Given the description of an element on the screen output the (x, y) to click on. 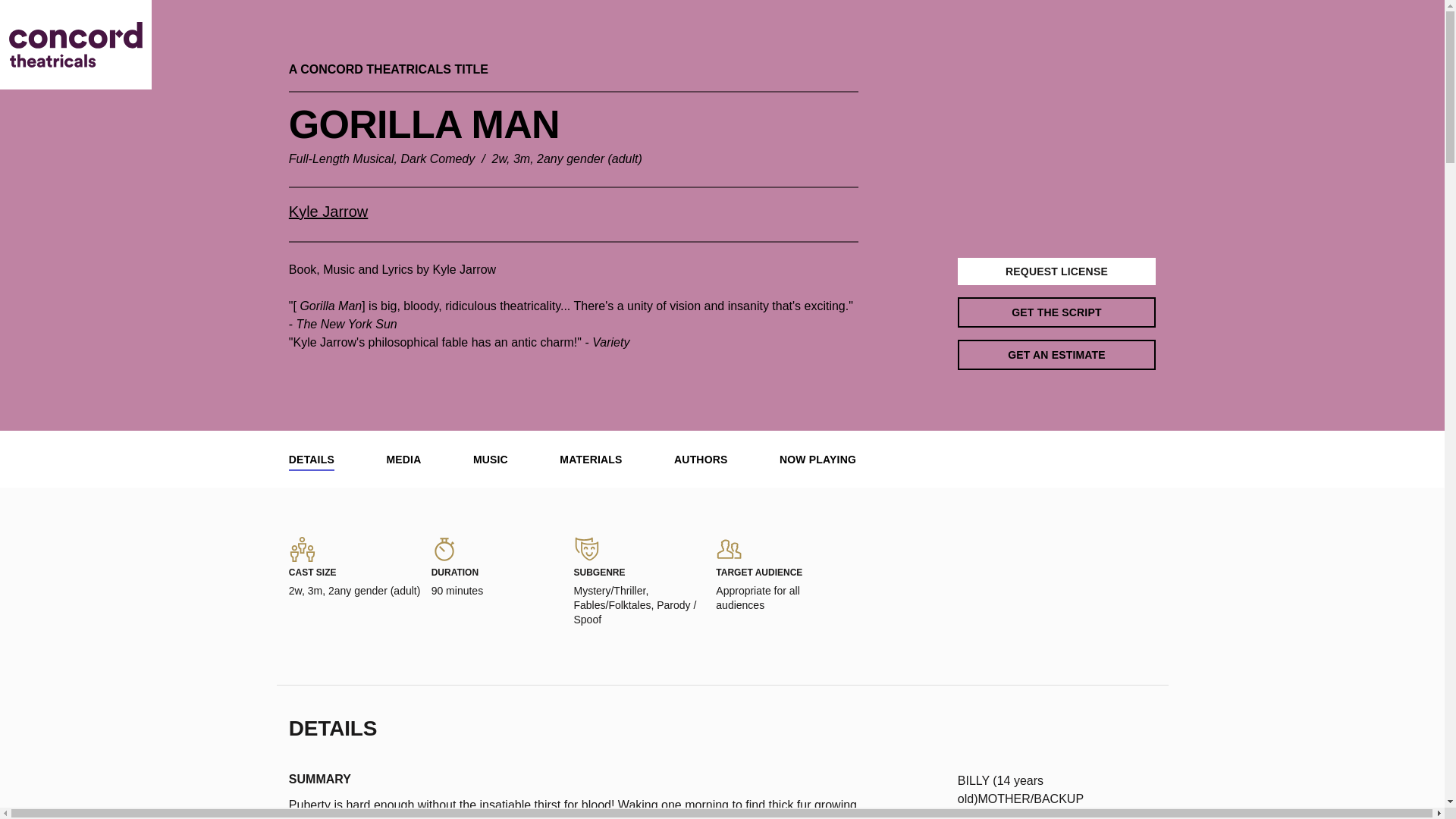
MATERIALS (590, 459)
SubGenre (586, 549)
MUSIC (490, 459)
MEDIA (402, 459)
Duration (444, 549)
DETAILS (311, 459)
Audience (729, 549)
Kyle Jarrow (328, 211)
DETAILS (311, 459)
REQUEST LICENSE (1057, 271)
MEDIA (402, 459)
Header logo (75, 44)
AUTHORS (700, 459)
DETAILS MEDIA MUSIC MATERIALS AUTHORS NOW PLAYING (722, 458)
GET THE SCRIPT (1057, 312)
